Given the description of an element on the screen output the (x, y) to click on. 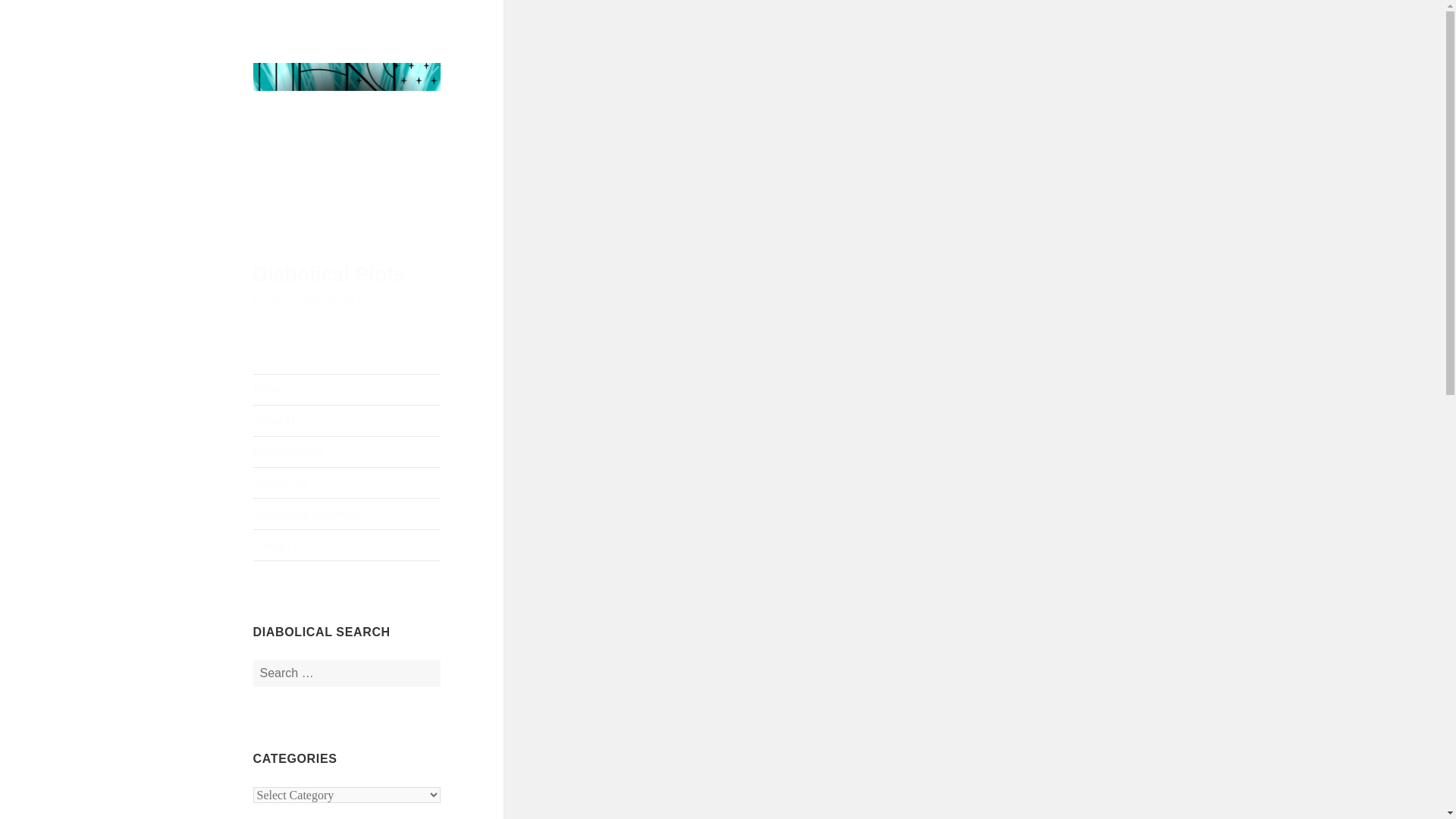
Home (347, 389)
Contact Us (347, 544)
Support Us (347, 482)
Diabolical Plots (329, 273)
About Us (347, 420)
Recent Stories (347, 451)
Submission Guidelines (347, 513)
